Given the description of an element on the screen output the (x, y) to click on. 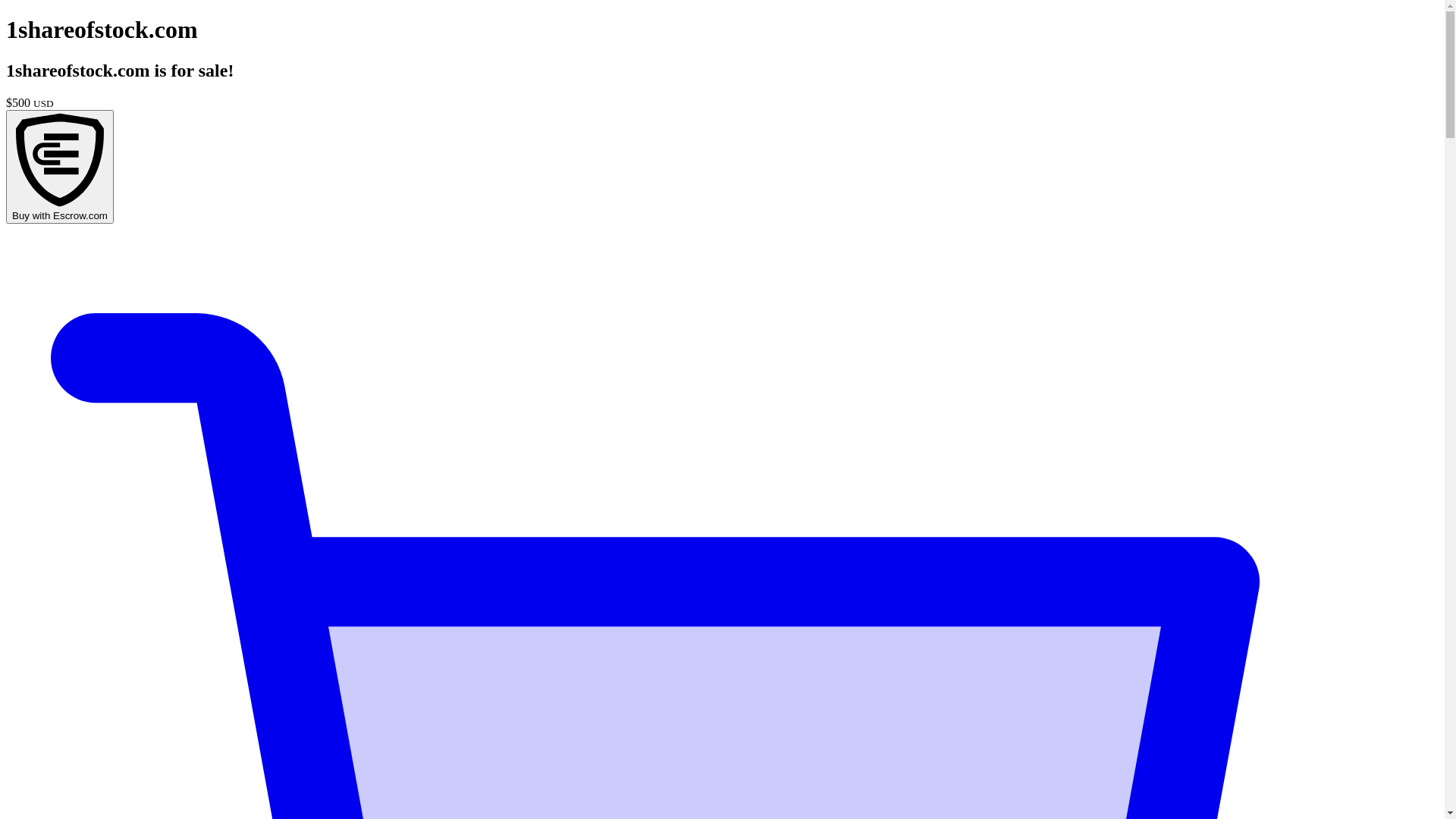
Buy with Escrow.com Element type: text (59, 166)
